Given the description of an element on the screen output the (x, y) to click on. 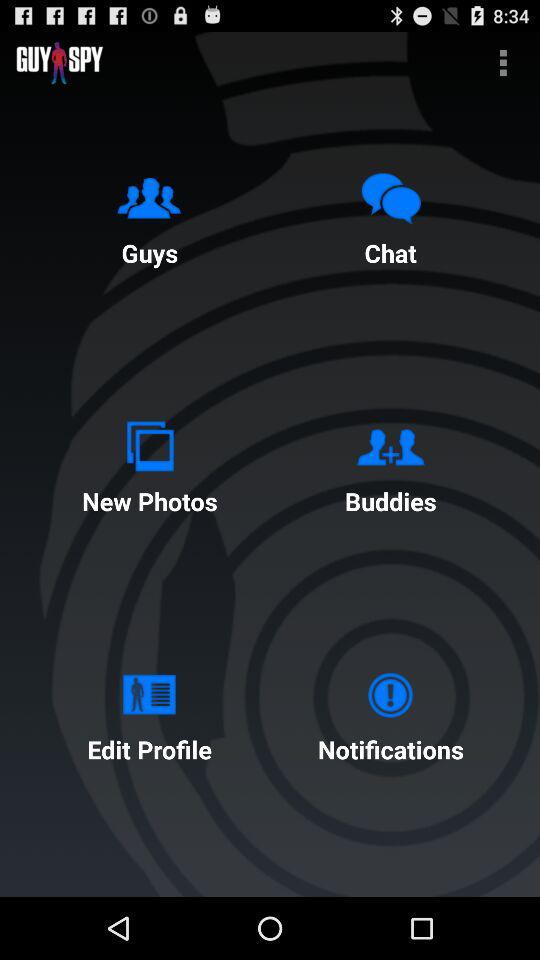
turn off the item to the right of edit profile item (390, 712)
